Given the description of an element on the screen output the (x, y) to click on. 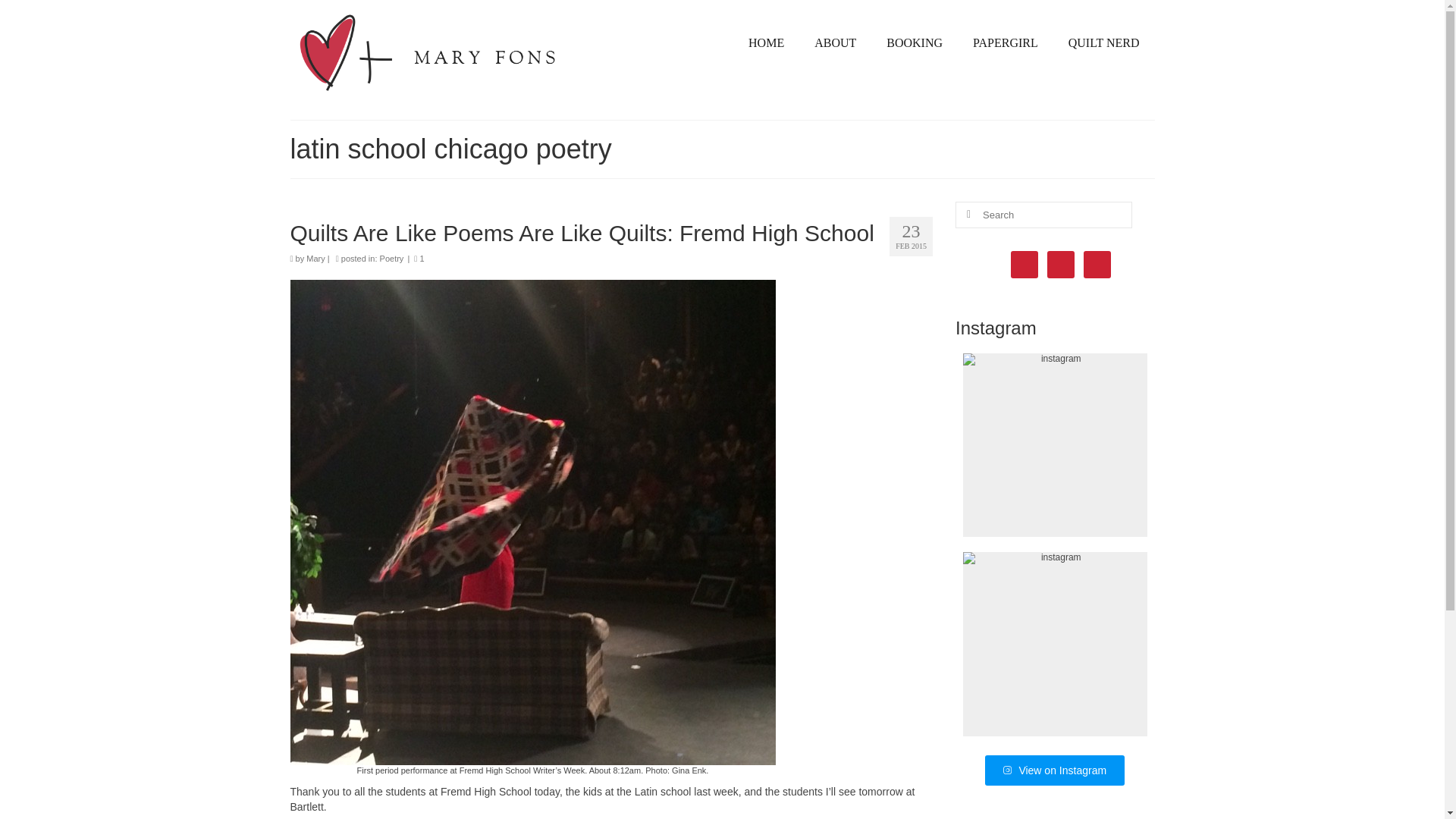
Mary (314, 257)
BOOKING (914, 42)
HOME (766, 42)
QUILT NERD (1103, 42)
Quilts Are Like Poems Are Like Quilts: Fremd High School (611, 232)
PAPERGIRL (1005, 42)
Mary Fons (428, 53)
Poetry (392, 257)
1 (418, 257)
ABOUT (834, 42)
